Given the description of an element on the screen output the (x, y) to click on. 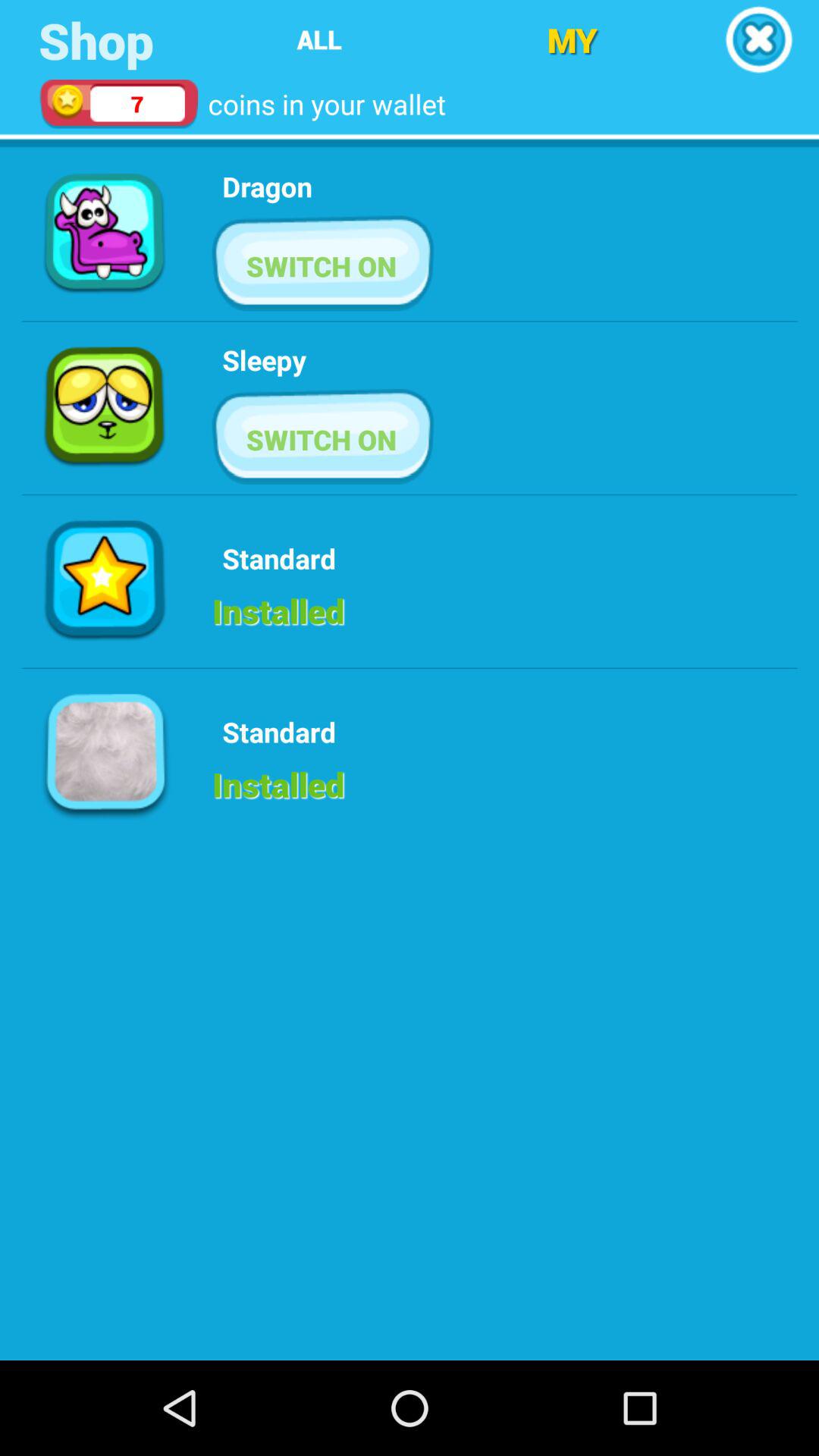
tap the icon to the left of my item (318, 39)
